Given the description of an element on the screen output the (x, y) to click on. 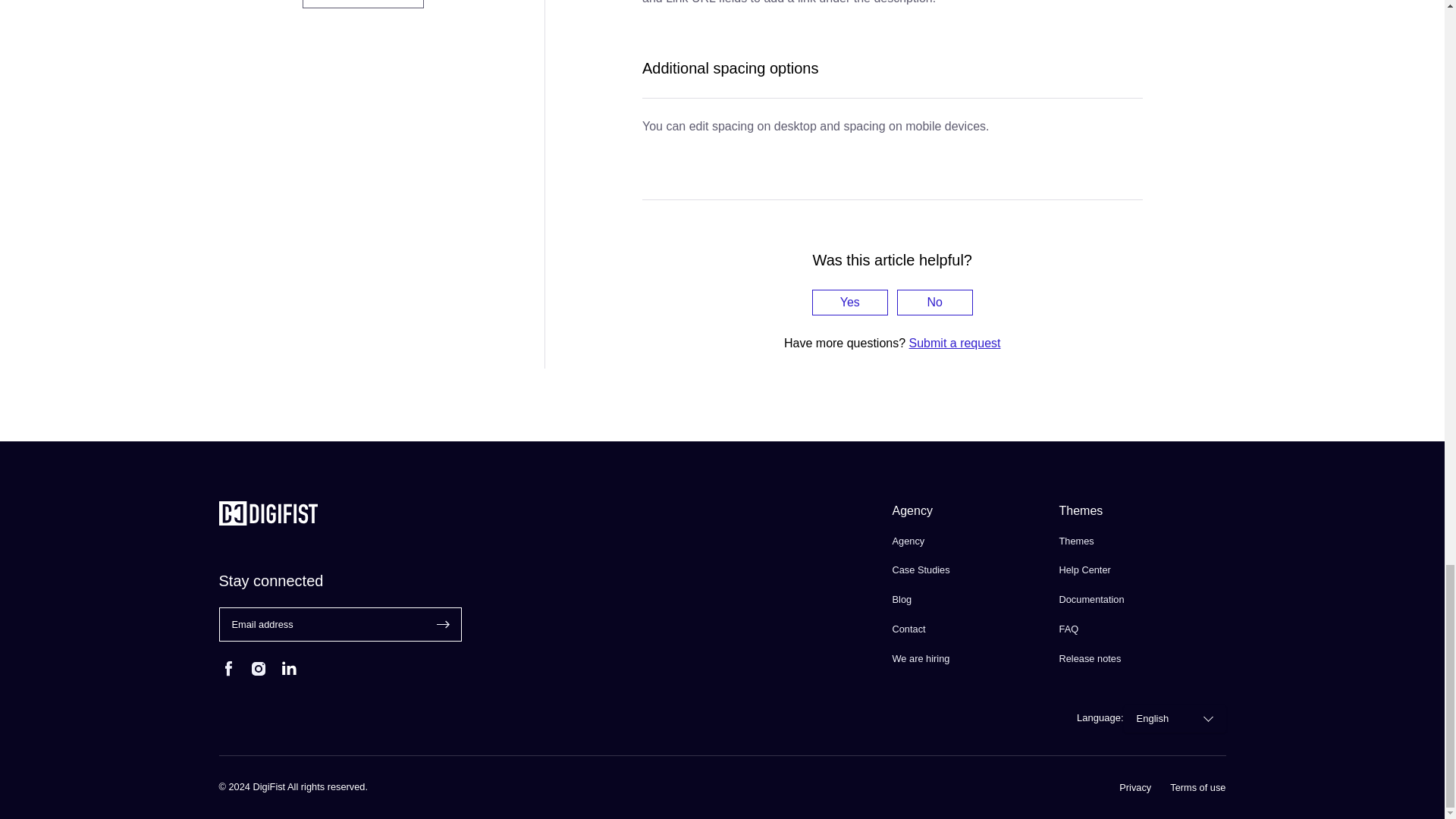
facebook (226, 673)
logo (267, 521)
Instagram (257, 673)
English (1174, 718)
English (1174, 718)
LinkedIn (288, 673)
